Given the description of an element on the screen output the (x, y) to click on. 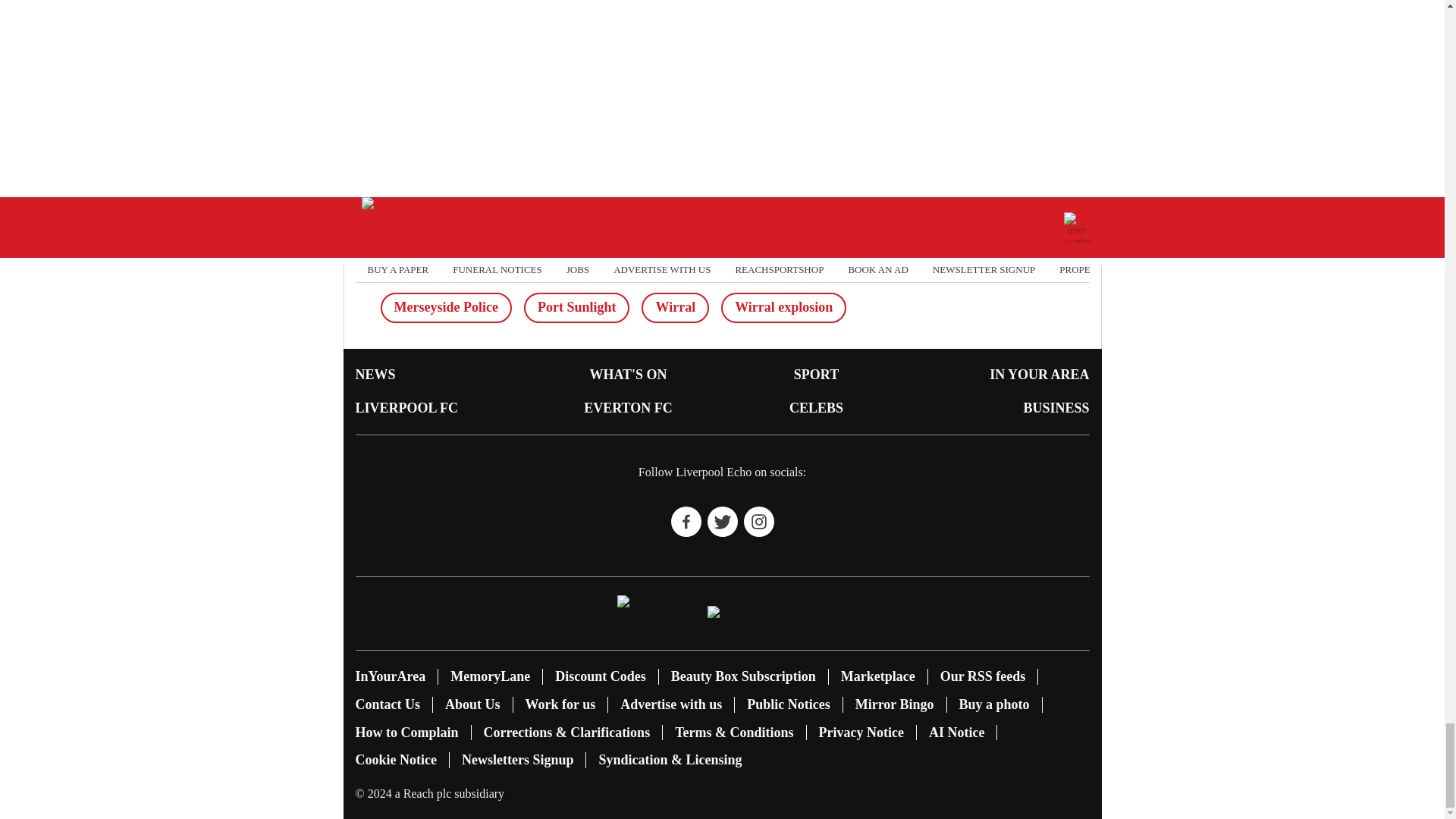
WHAT'S ON (627, 374)
SPORT (815, 374)
NEWS (374, 374)
Merseyside Police (446, 307)
Wirral (675, 307)
Wirral explosion (782, 307)
Port Sunlight (577, 307)
